Given the description of an element on the screen output the (x, y) to click on. 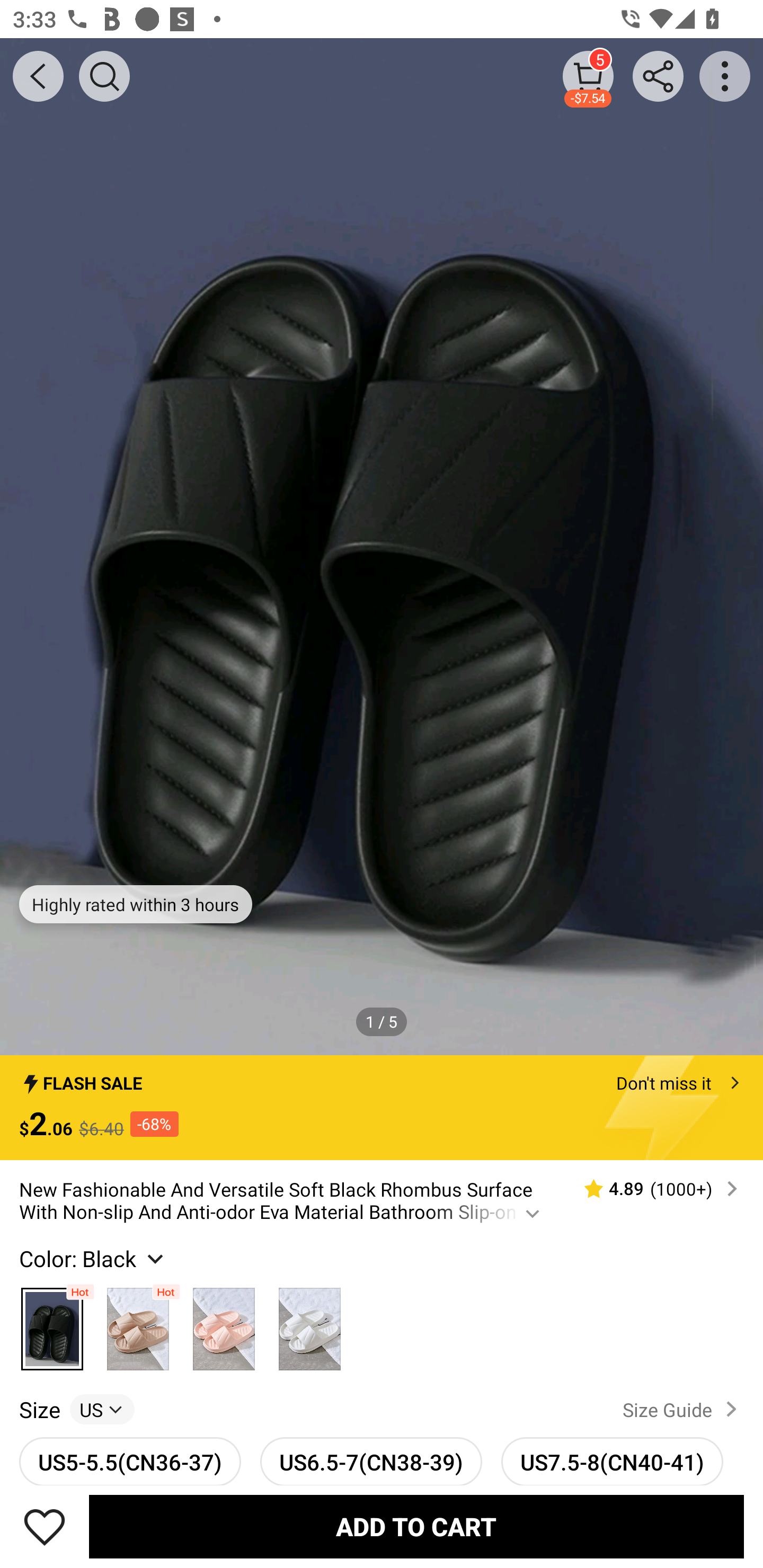
BACK (38, 75)
5 -$7.54 (588, 75)
1 / 5 (381, 1021)
FLASH SALE Don't miss it $2.06 $6.40 -68% (381, 1107)
FLASH SALE Don't miss it (381, 1077)
4.89 (1000‎+) (653, 1188)
Color: Black (93, 1258)
Black (52, 1324)
Brown (138, 1324)
Pink (224, 1324)
White (309, 1324)
Size (39, 1408)
US (102, 1408)
Size Guide (682, 1409)
US5-5.5(CN36-37) US5-5.5(CN36-37)unselected option (130, 1460)
US6.5-7(CN38-39) US6.5-7(CN38-39)unselected option (371, 1460)
US7.5-8(CN40-41) US7.5-8(CN40-41)unselected option (612, 1460)
ADD TO CART (416, 1526)
Save (44, 1526)
